Given the description of an element on the screen output the (x, y) to click on. 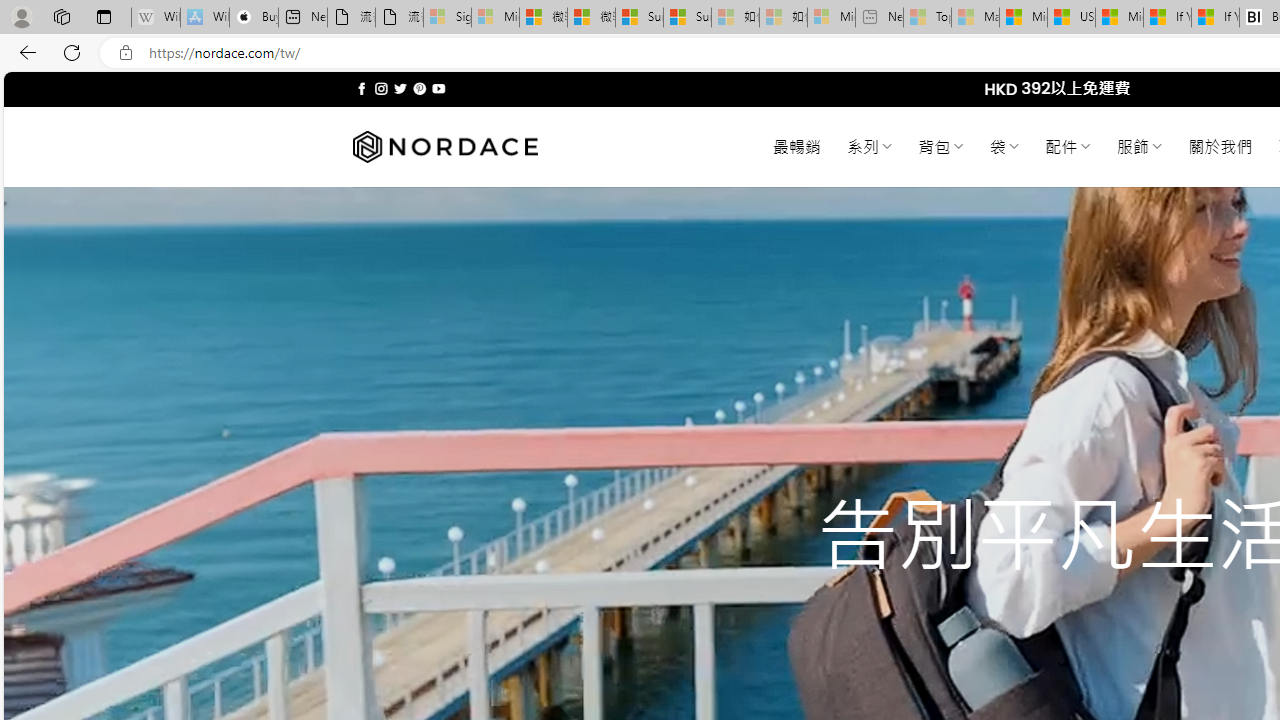
Top Stories - MSN - Sleeping (927, 17)
